Given the description of an element on the screen output the (x, y) to click on. 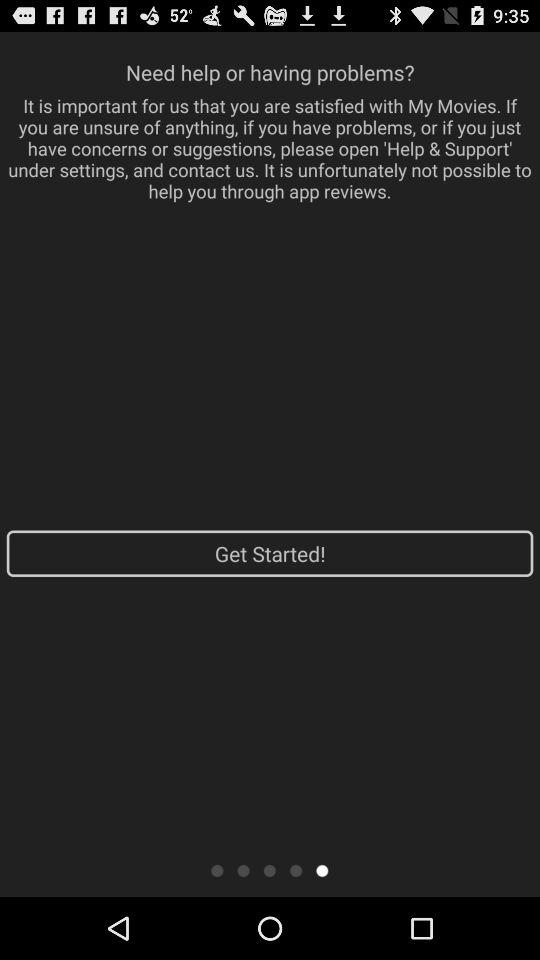
go to a page of the tutorial (295, 870)
